Given the description of an element on the screen output the (x, y) to click on. 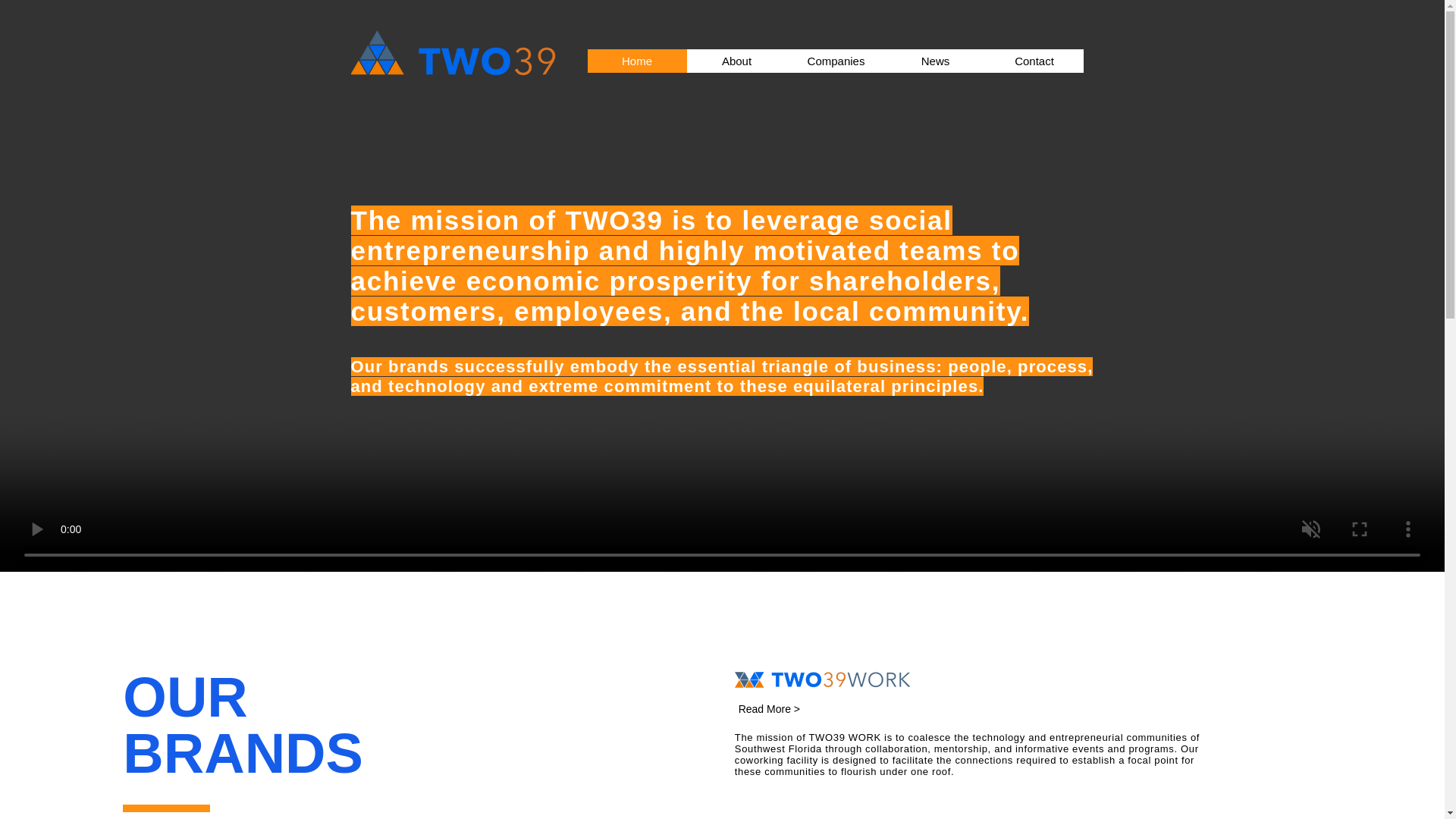
Home (635, 60)
About (736, 60)
Companies (835, 60)
News (935, 60)
Contact (1033, 60)
